Given the description of an element on the screen output the (x, y) to click on. 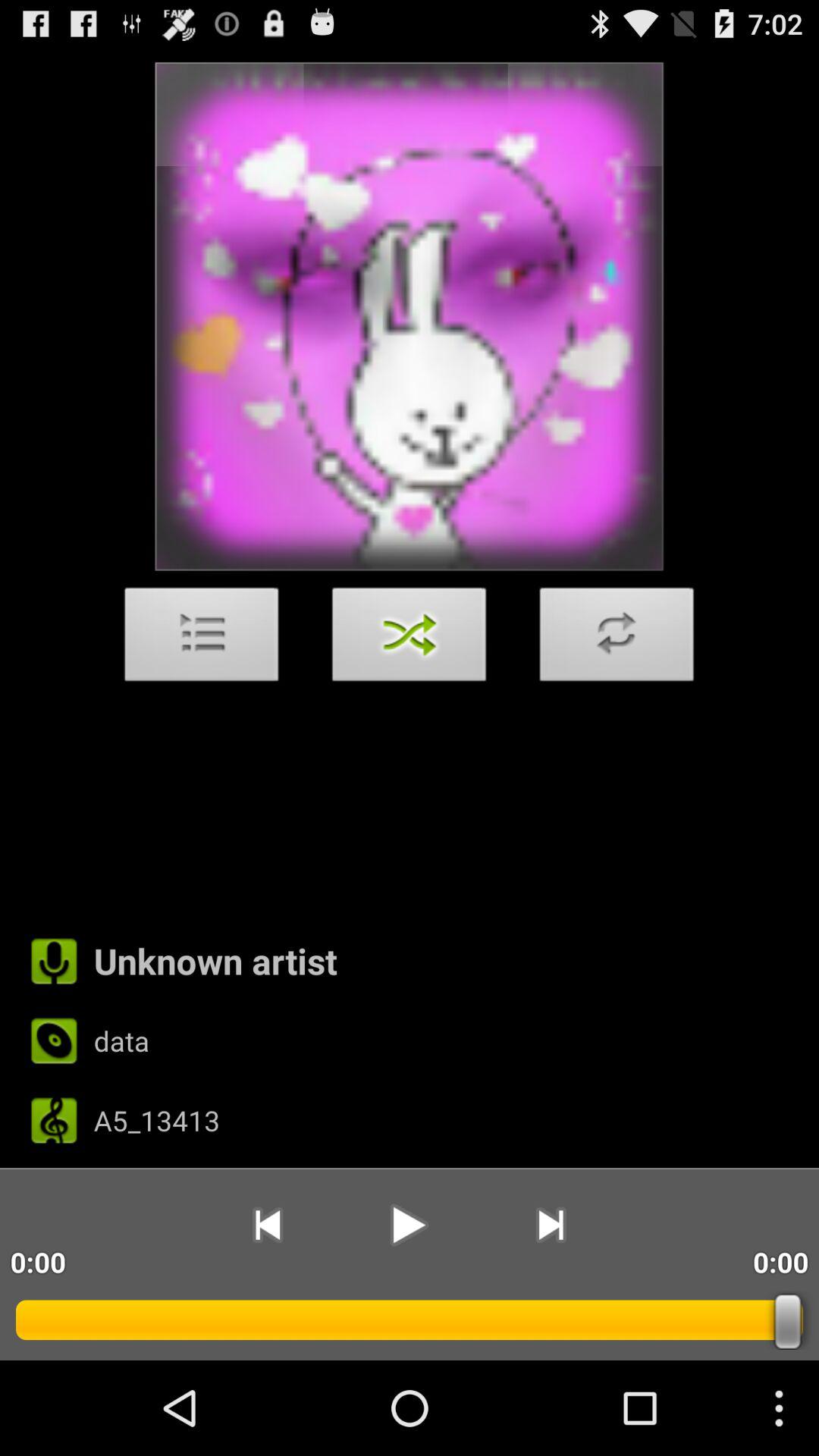
turn on icon next to 0:00 (550, 1224)
